Given the description of an element on the screen output the (x, y) to click on. 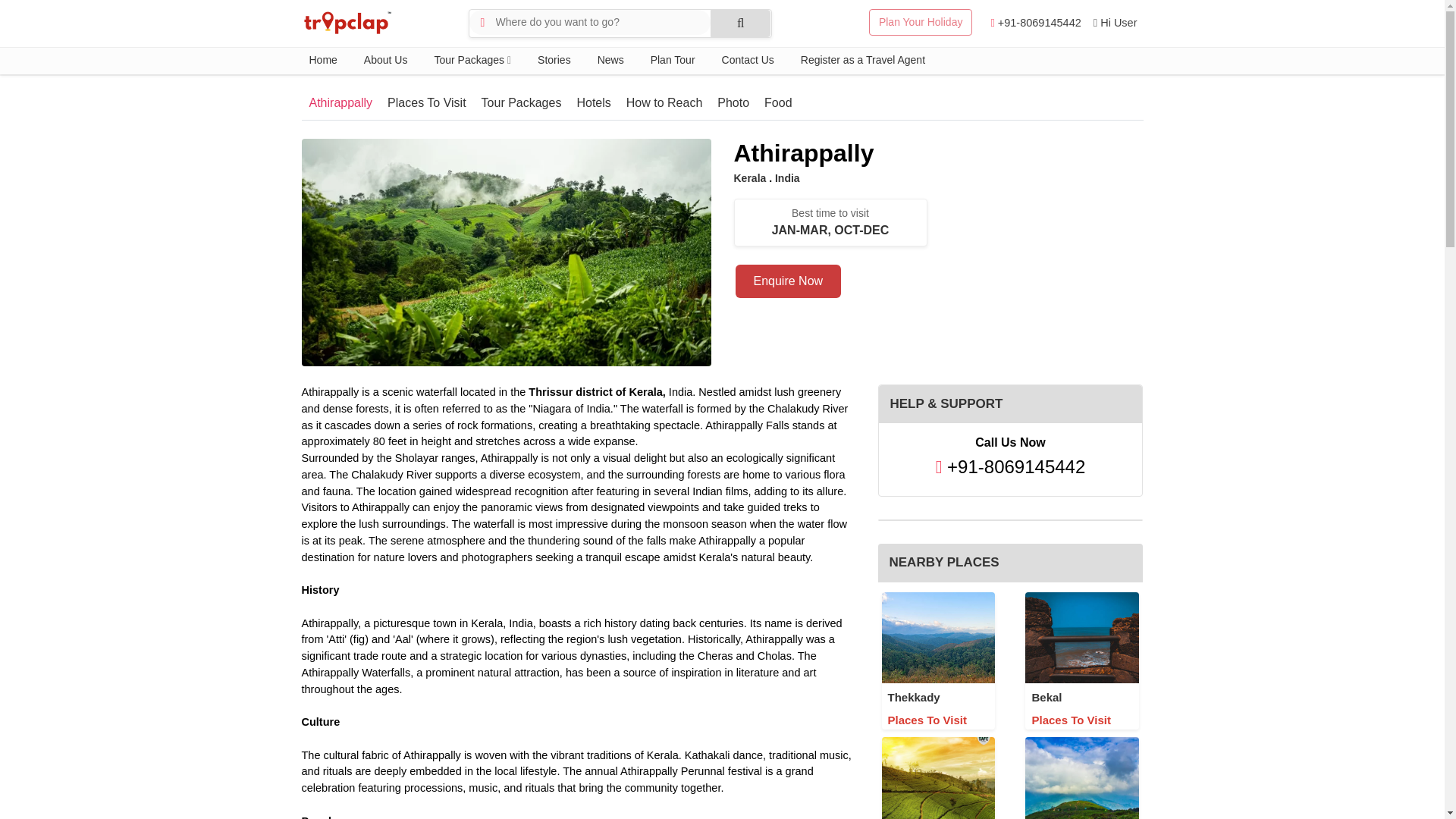
Hi User (1114, 23)
Tour Packages (472, 59)
About Us (385, 59)
Home (329, 59)
Plan Your Holiday (920, 22)
